Given the description of an element on the screen output the (x, y) to click on. 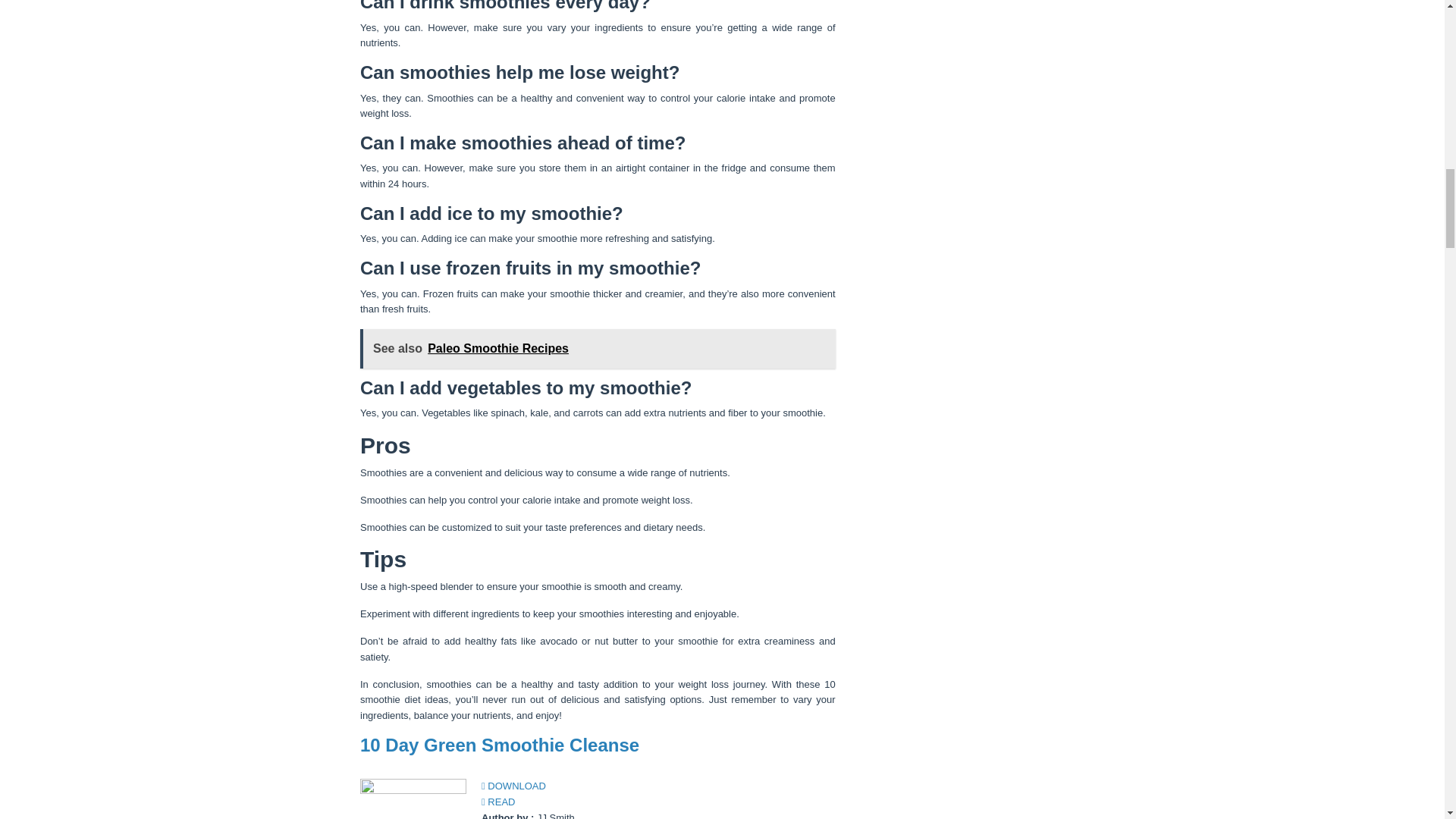
10 Day Green Smoothie Cleanse (499, 744)
DOWNLOAD (513, 785)
10 Day Green Smoothie Cleanse (499, 744)
READ (498, 801)
See also  Paleo Smoothie Recipes (597, 348)
